Given the description of an element on the screen output the (x, y) to click on. 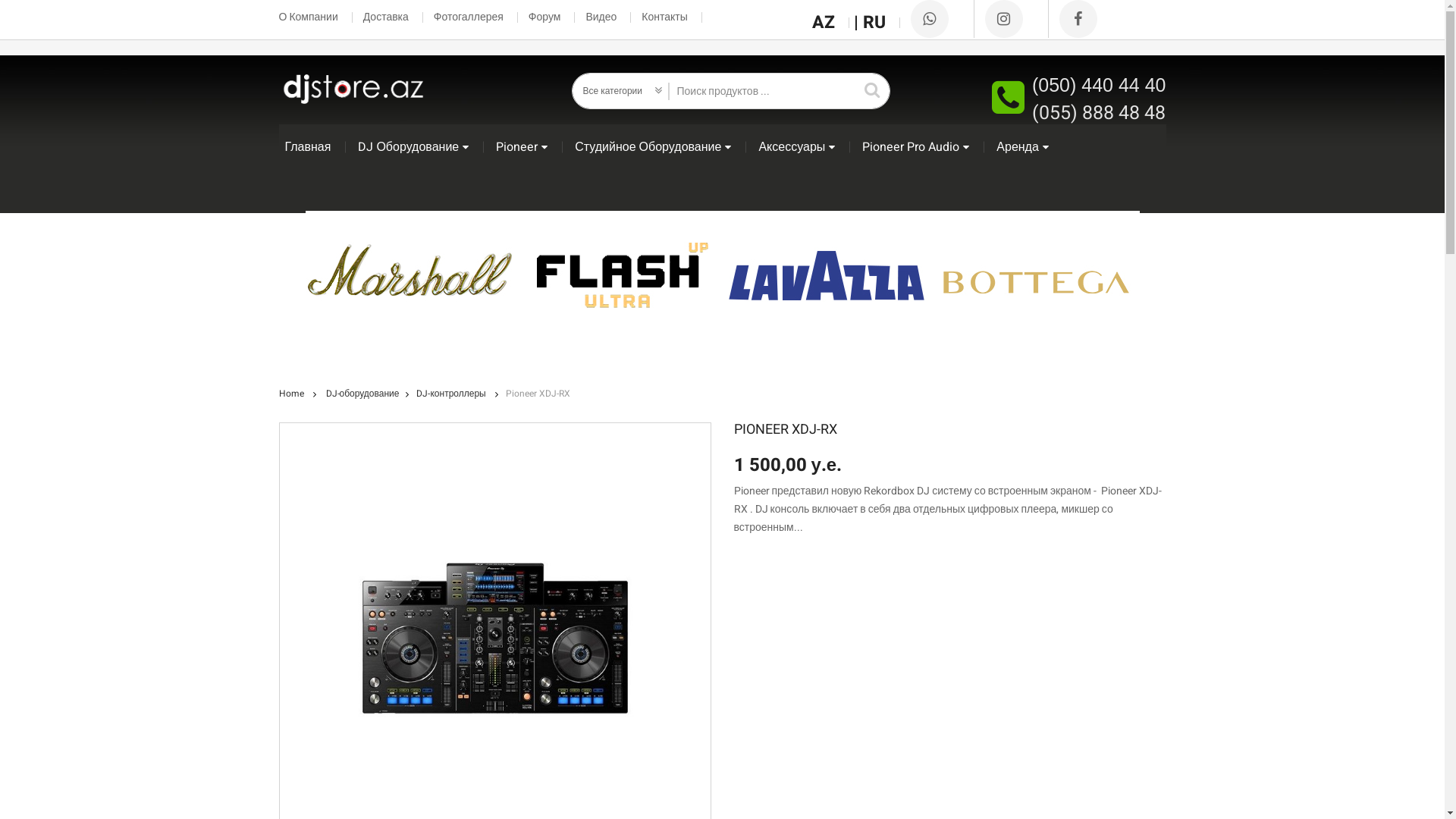
RU Element type: text (881, 22)
AZ Element type: text (830, 22)
Home Element type: text (291, 393)
Pioneer Element type: text (521, 147)
DJ Store Element type: hover (351, 88)
Pioneer Pro Audio Element type: text (915, 147)
